Given the description of an element on the screen output the (x, y) to click on. 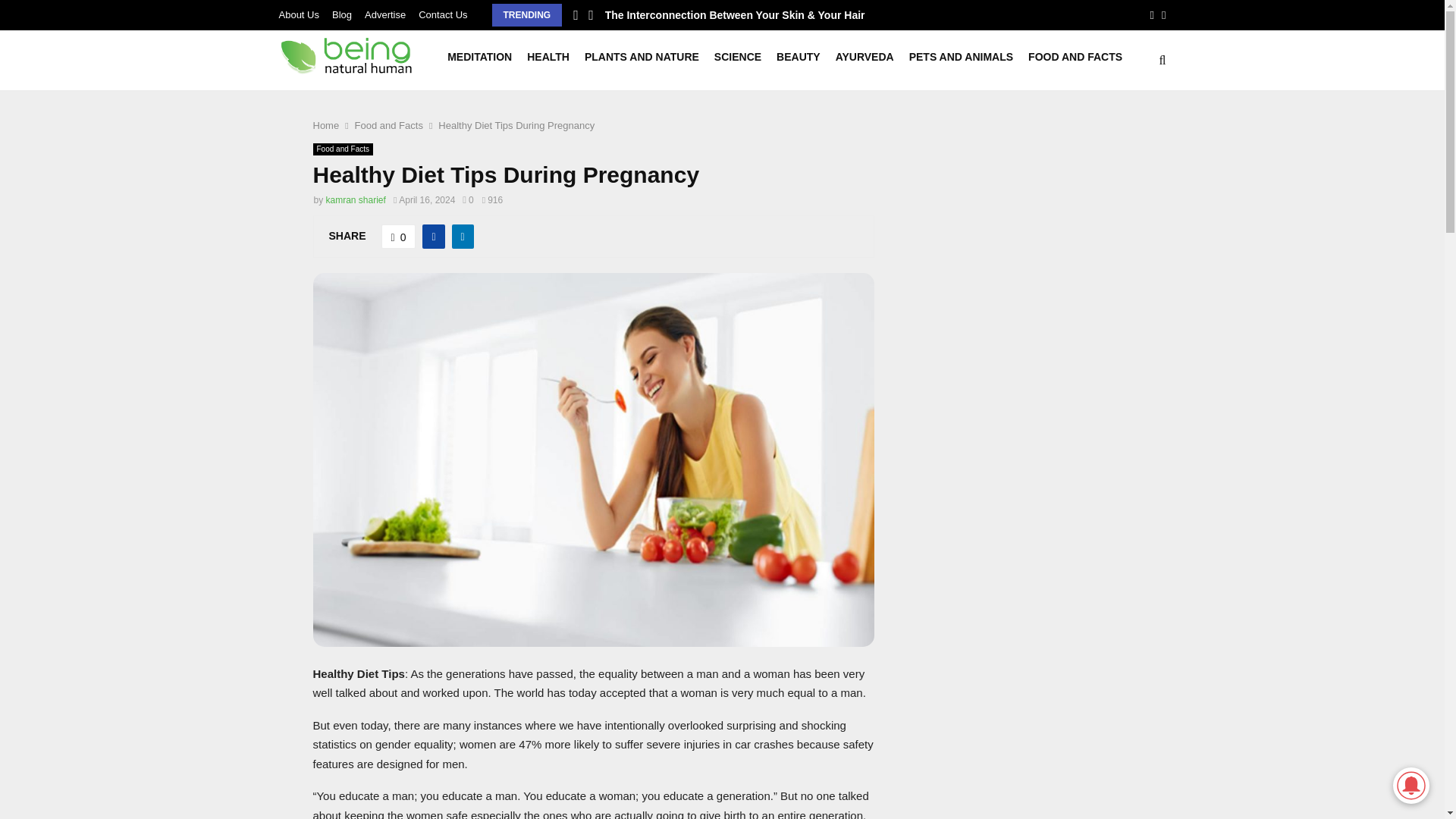
MEDITATION (479, 60)
AYURVEDA (864, 60)
Contact Us (443, 15)
Advertise (385, 15)
Like (398, 236)
PETS AND ANIMALS (960, 60)
About Us (298, 15)
PLANTS AND NATURE (641, 60)
FOOD AND FACTS (1074, 60)
